Given the description of an element on the screen output the (x, y) to click on. 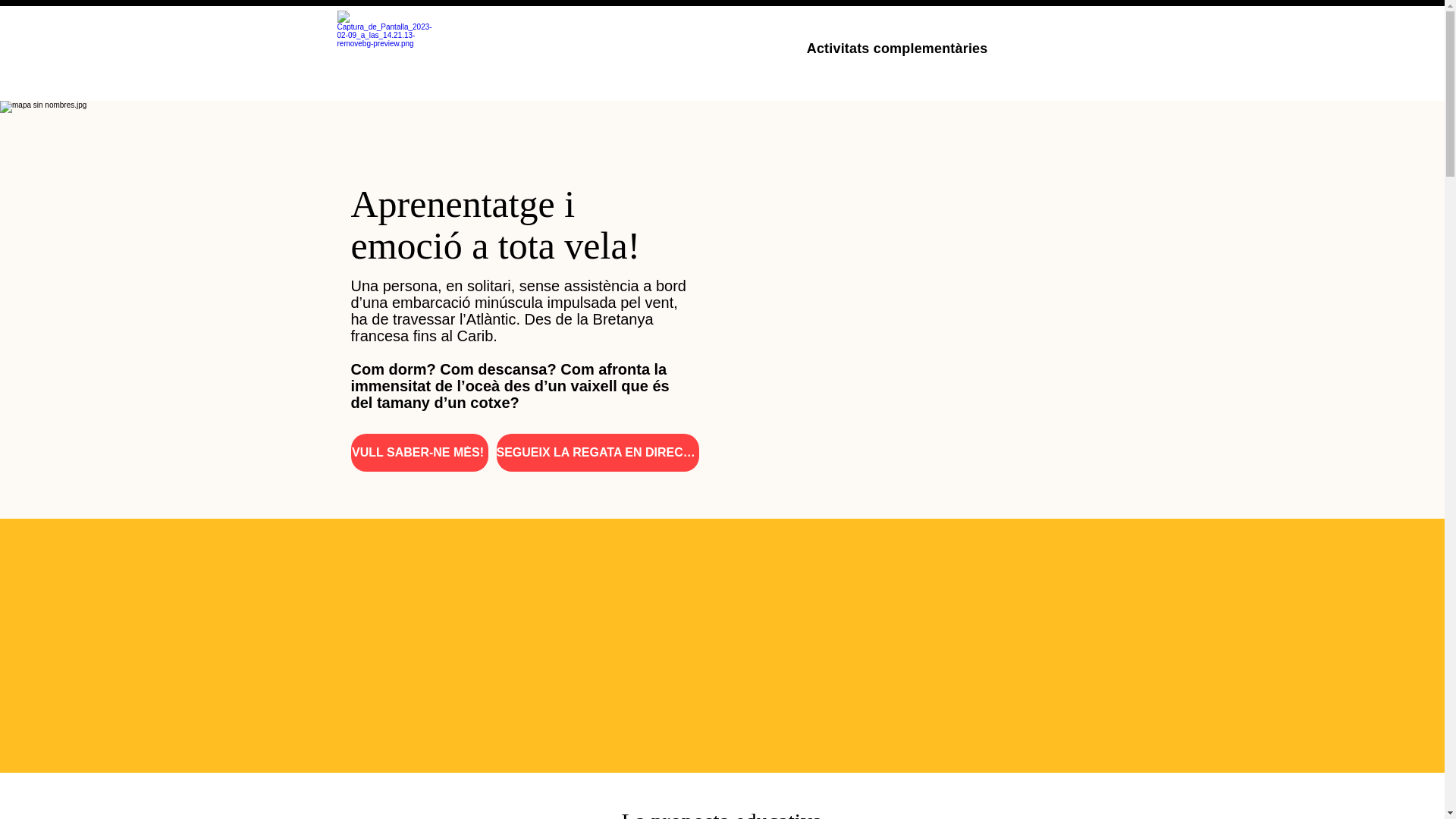
SEGUEIX LA REGATA EN DIRECTE Element type: text (596, 452)
